Given the description of an element on the screen output the (x, y) to click on. 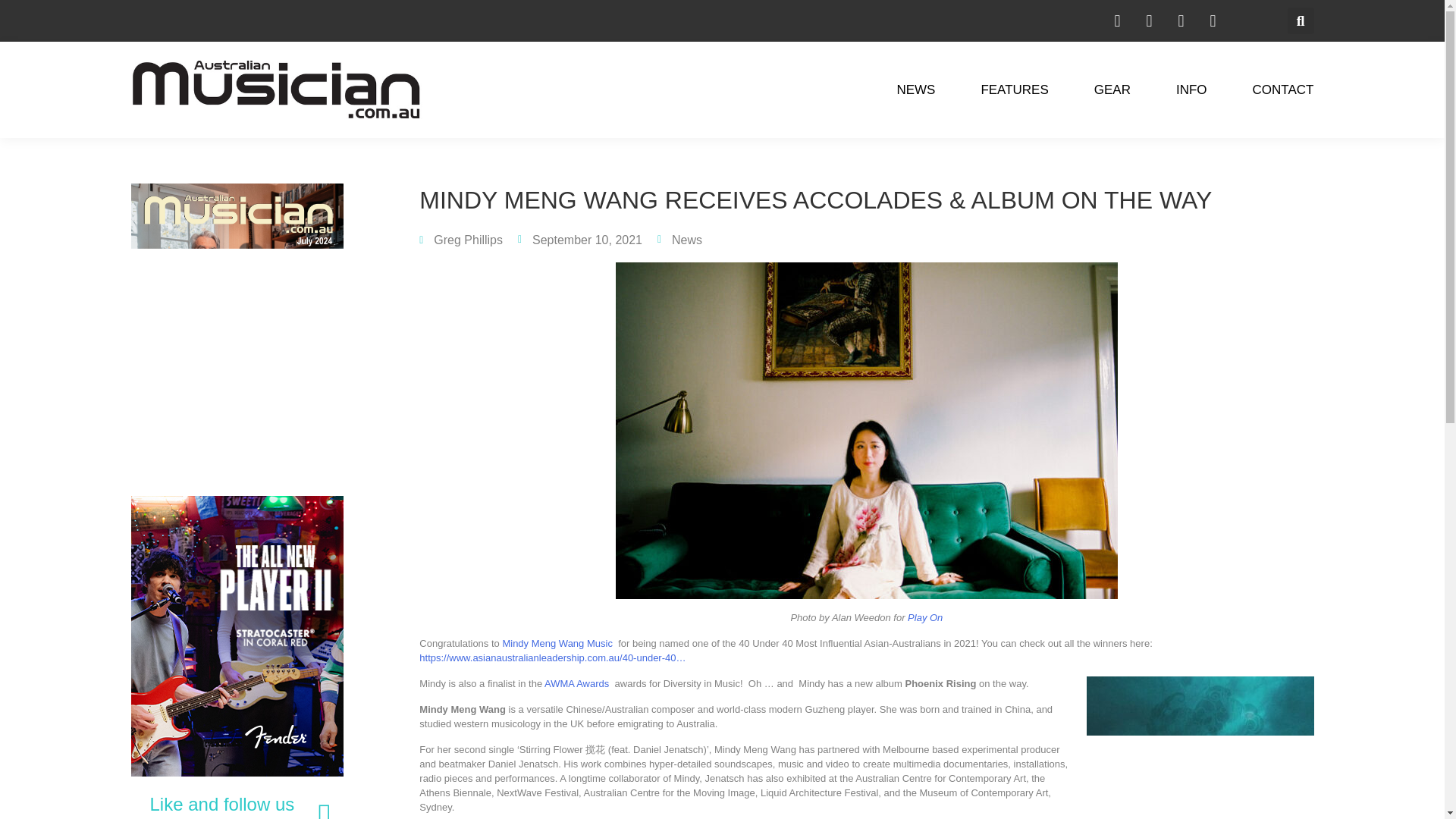
Instagram (1116, 20)
Twitter (1180, 20)
Youtube (1212, 20)
CONTACT (1283, 89)
GEAR (1112, 89)
INFO (1191, 89)
Facebook-f (1148, 20)
FEATURES (1013, 89)
NEWS (915, 89)
